Given the description of an element on the screen output the (x, y) to click on. 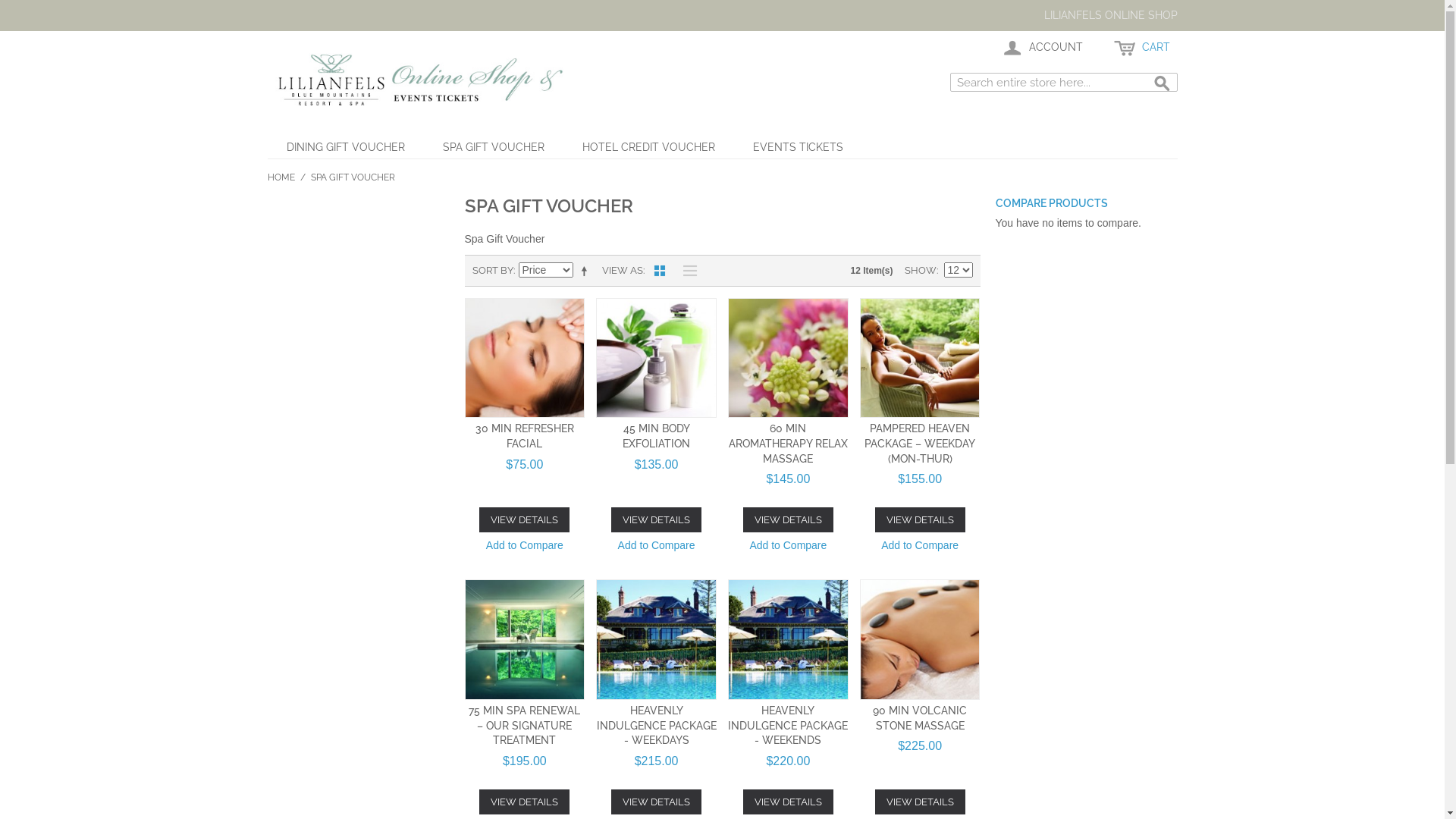
List Element type: text (685, 270)
45 MIN BODY EXFOLIATION Element type: text (656, 435)
45 min Body Exfoliation Element type: hover (656, 358)
VIEW DETAILS Element type: text (788, 801)
ACCOUNT Element type: text (1041, 47)
Add to Compare Element type: text (656, 546)
VIEW DETAILS Element type: text (656, 801)
Heavenly Indulgence Package - Weekends Element type: hover (788, 639)
30 MIN REFRESHER FACIAL Element type: text (524, 435)
EVENTS TICKETS Element type: text (798, 146)
HEAVENLY INDULGENCE PACKAGE - WEEKDAYS Element type: text (656, 725)
60 min Aromatherapy Relax Massage Element type: hover (788, 358)
Heavenly Indulgence Package - Weekdays Element type: hover (656, 639)
Add to Compare Element type: text (524, 546)
DINING GIFT VOUCHER Element type: text (344, 146)
Add to Compare Element type: text (787, 546)
HOTEL CREDIT VOUCHER Element type: text (647, 146)
90 MIN VOLCANIC STONE MASSAGE Element type: text (919, 717)
60 MIN AROMATHERAPY RELAX MASSAGE Element type: text (787, 443)
VIEW DETAILS Element type: text (524, 801)
Set Descending Direction Element type: text (585, 270)
VIEW DETAILS Element type: text (920, 519)
SPA GIFT VOUCHER Element type: text (492, 146)
VIEW DETAILS Element type: text (656, 519)
HOME Element type: text (280, 177)
30 min Refresher Facial Element type: hover (524, 358)
HEAVENLY INDULGENCE PACKAGE - WEEKENDS Element type: text (787, 725)
90 min Volcanic Stone Massage Element type: hover (919, 639)
VIEW DETAILS Element type: text (788, 519)
VIEW DETAILS Element type: text (920, 801)
VIEW DETAILS Element type: text (524, 519)
Add to Compare Element type: text (919, 546)
CART Element type: text (1140, 47)
Search Element type: hover (1161, 83)
